Given the description of an element on the screen output the (x, y) to click on. 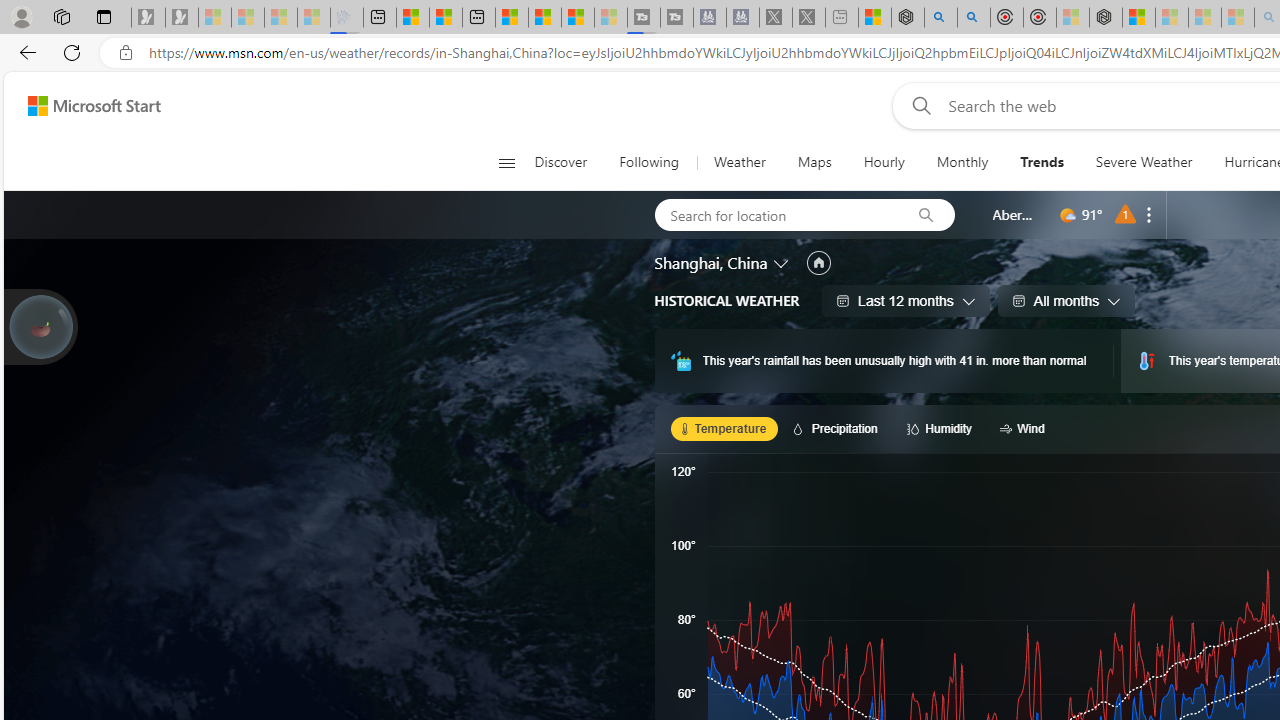
Join us in planting real trees to help our planet! (40, 325)
Nordace - Summer Adventures 2024 (908, 17)
Monthly (962, 162)
Microsoft Start (577, 17)
Skip to content (86, 105)
Set as primary location (818, 263)
poe - Search (941, 17)
All months (1065, 300)
Weather (738, 162)
Severe Weather (1143, 162)
Humidity (942, 428)
Following (649, 162)
